Given the description of an element on the screen output the (x, y) to click on. 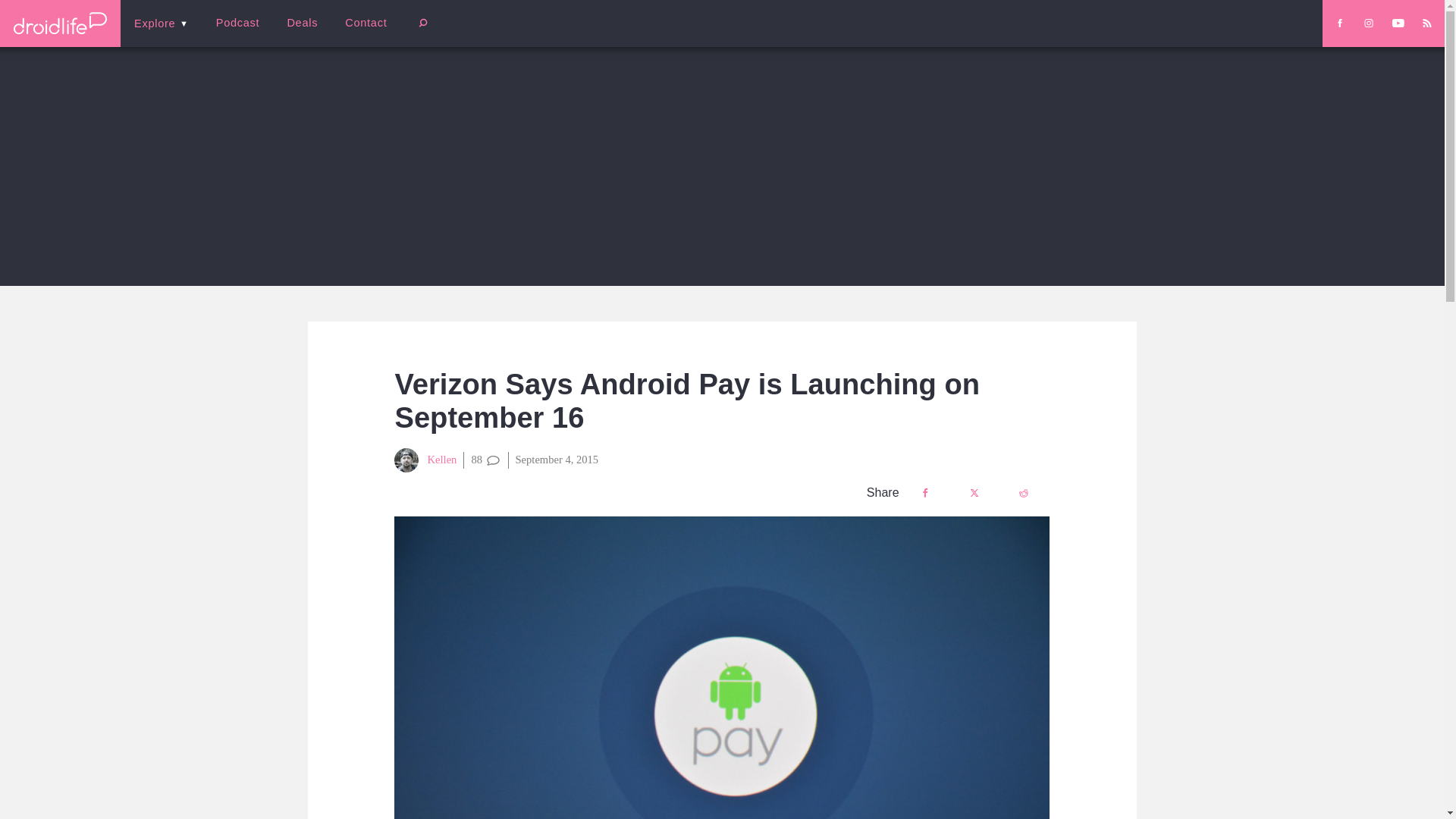
Droid Life on Facebook (1339, 23)
Deals (302, 23)
Beginners' Guide (360, 33)
Droid Life on YouTube (1398, 23)
Podcast (237, 23)
Droid Life RSS (1426, 23)
Explore (161, 23)
Droid Life on Instagram (1368, 23)
Kellen (425, 459)
Contact (365, 23)
